Given the description of an element on the screen output the (x, y) to click on. 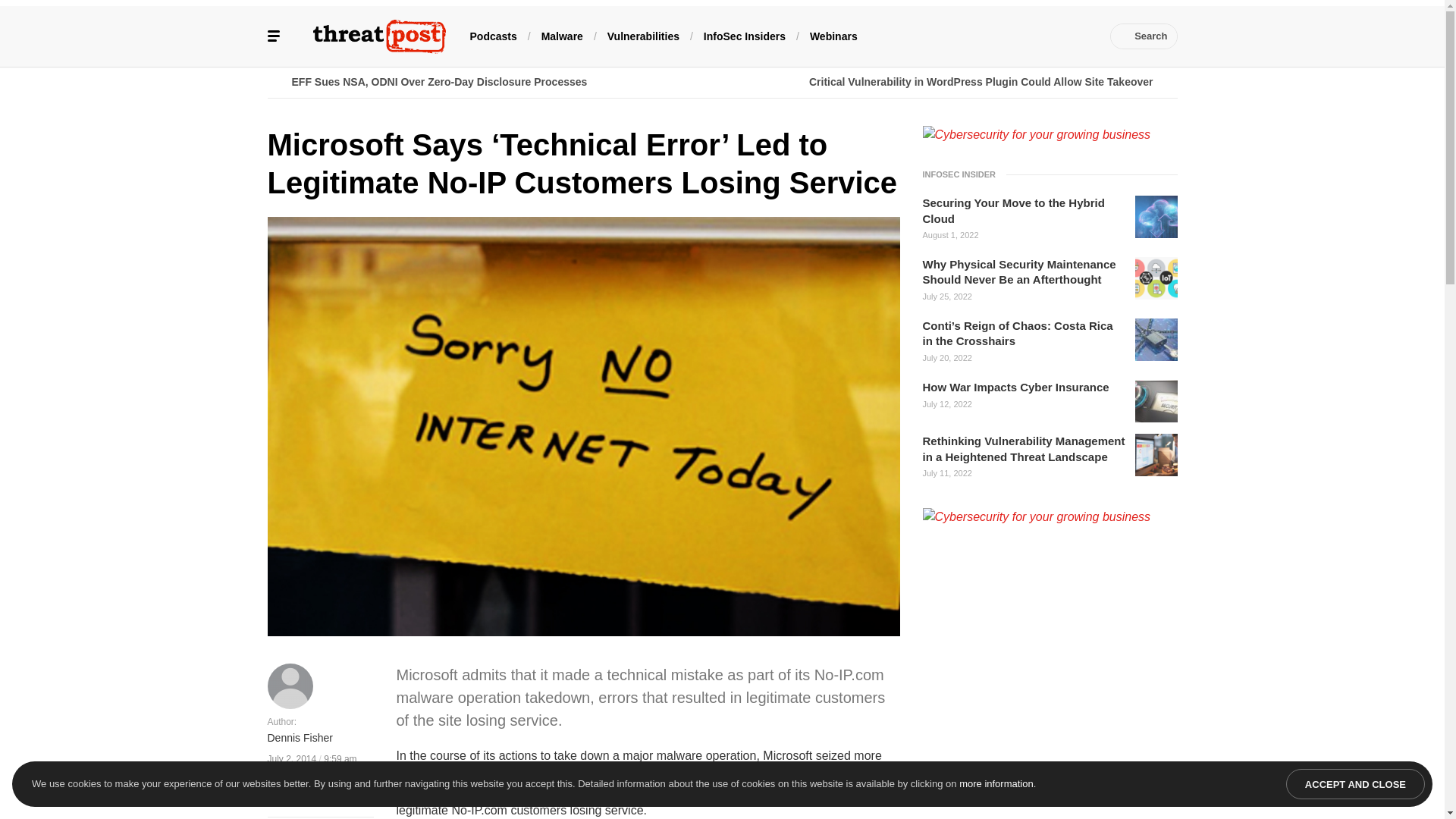
InfoSec Insiders (744, 35)
Securing Your Move to the Hybrid Cloud (1023, 210)
RSS (1080, 36)
EFF Sues NSA, ODNI Over Zero-Day Disclosure Processes (494, 82)
LinkedIn (989, 36)
YouTube (1012, 36)
Facebook (944, 36)
Feedly (1034, 36)
Vulnerabilities (643, 35)
Webinars (833, 35)
Malware (562, 35)
Podcasts (493, 35)
Twitter (966, 36)
Dennis Fisher (298, 738)
